Given the description of an element on the screen output the (x, y) to click on. 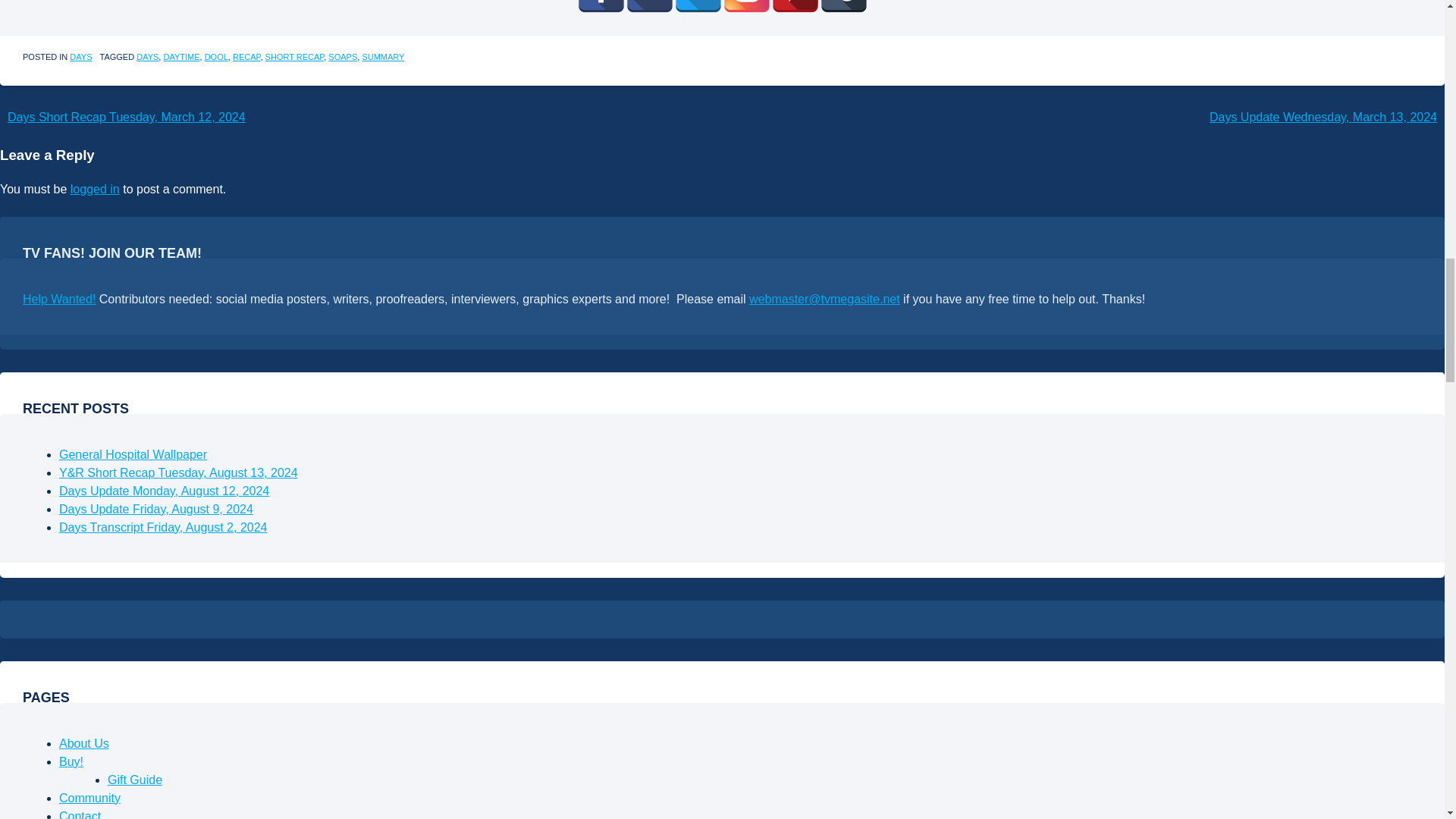
Days Update Wednesday, March 13, 2024 (1323, 116)
Facebook Group (648, 6)
SOAPS (342, 56)
Pinterest (794, 6)
DOOL (216, 56)
Tumblr (842, 6)
Facebook (600, 6)
logged in (94, 188)
Days Update Monday, August 12, 2024 (164, 490)
Twitter (697, 6)
